Given the description of an element on the screen output the (x, y) to click on. 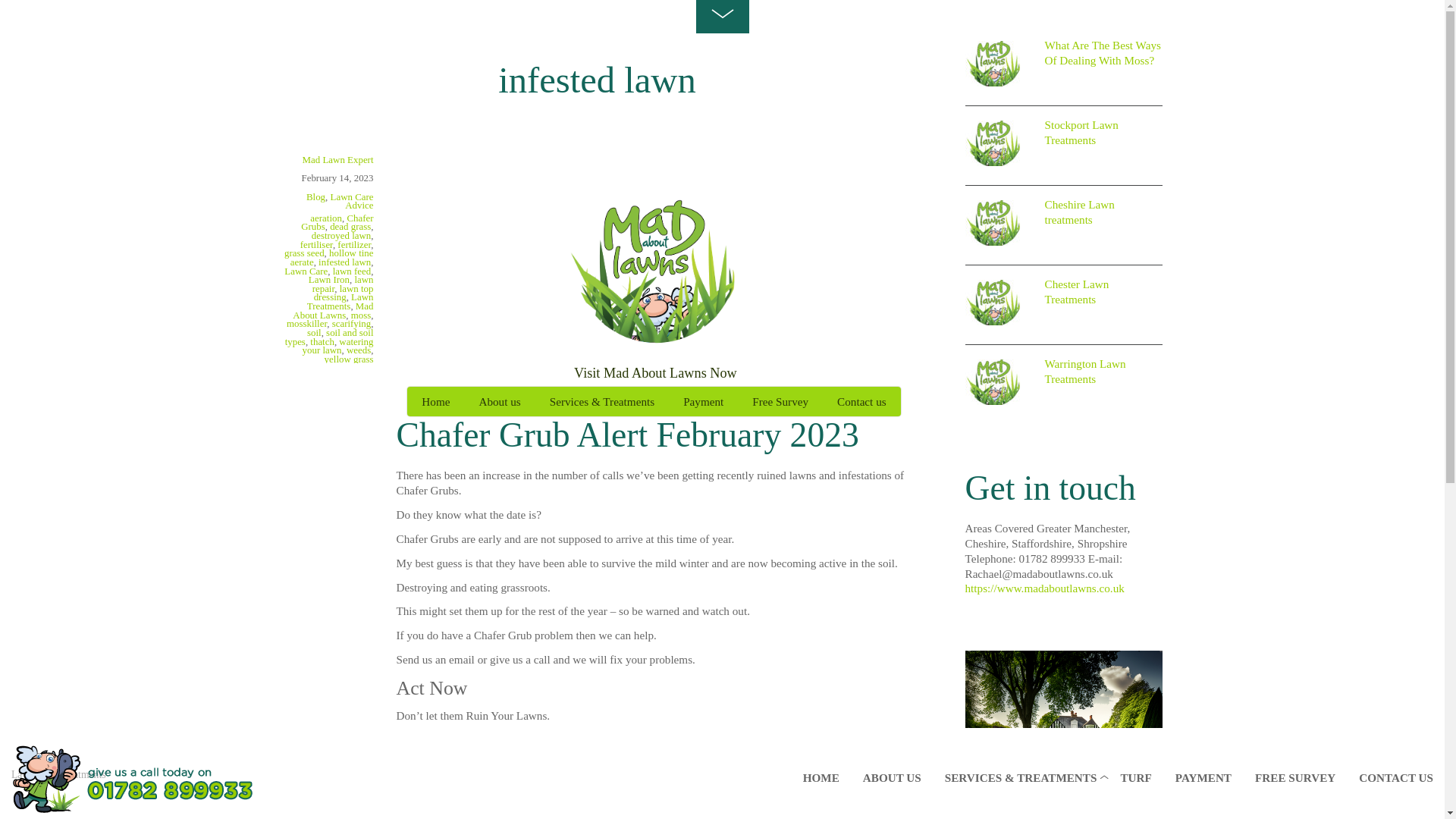
hollow tine aerate (331, 257)
infested lawn (344, 261)
Chafer Grubs (336, 222)
weeds (358, 349)
Stockport Lawn Treatments (992, 143)
dead grass (350, 225)
mosskiller (306, 323)
aeration (326, 217)
Cheshire Lawn treatments (992, 222)
PAYMENT (1203, 775)
scarifying (351, 323)
Lawn Treatments (340, 301)
Mad About Lawns (332, 310)
Lawn Iron (328, 279)
lawn feed (352, 270)
